Given the description of an element on the screen output the (x, y) to click on. 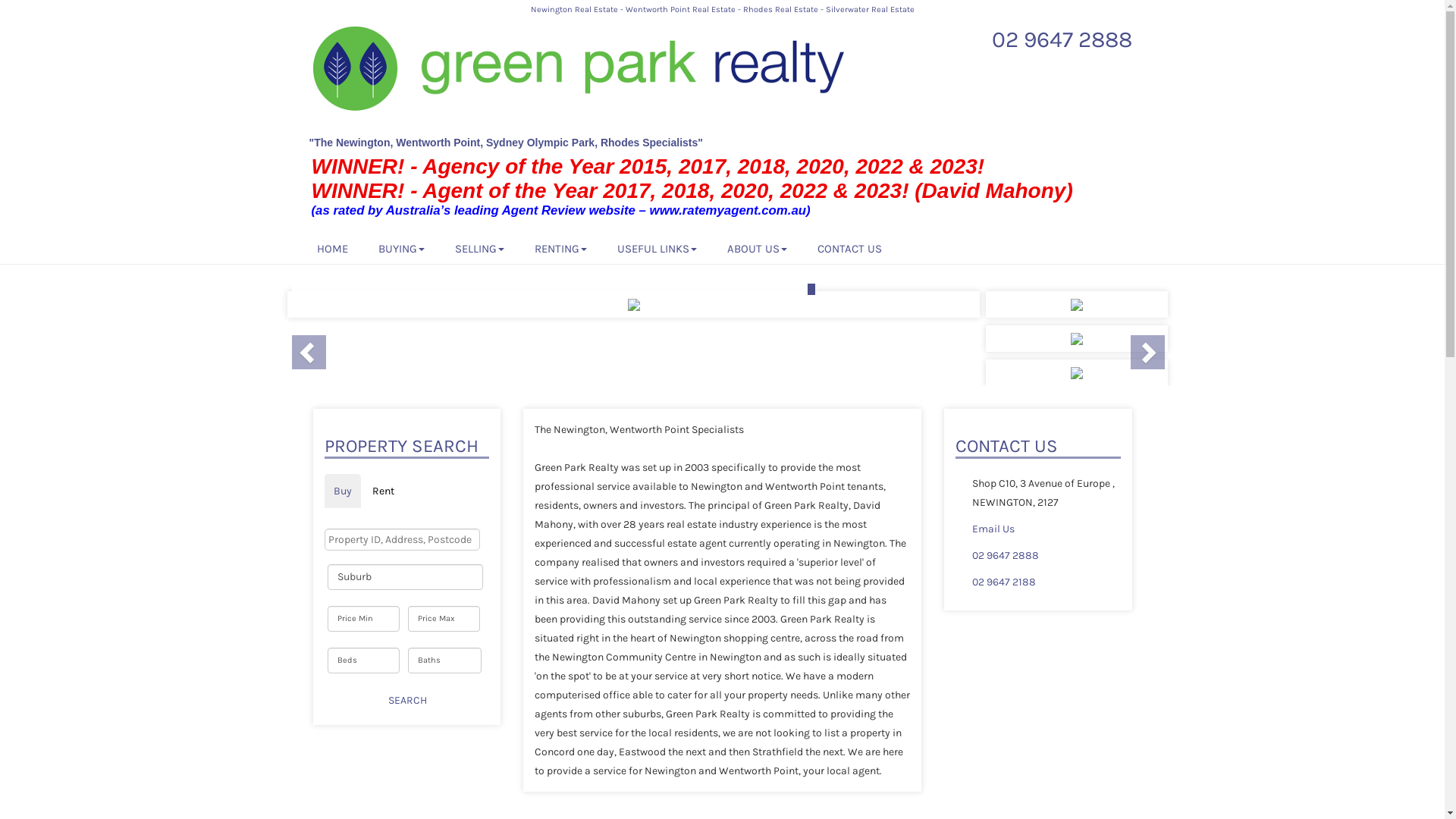
RENTING Element type: text (559, 247)
CONTACT US Element type: text (849, 247)
Buy Element type: text (342, 490)
02 9647 2188 Element type: text (1003, 581)
02 9647 2888 Element type: text (1005, 555)
BUYING Element type: text (400, 247)
SELLING Element type: text (479, 247)
ABOUT US Element type: text (756, 247)
SEARCH Element type: text (407, 700)
USEFUL LINKS Element type: text (657, 247)
Rent Element type: text (382, 490)
02 9647 2888 Element type: text (1061, 39)
Email Us Element type: text (993, 528)
HOME Element type: text (332, 247)
